Given the description of an element on the screen output the (x, y) to click on. 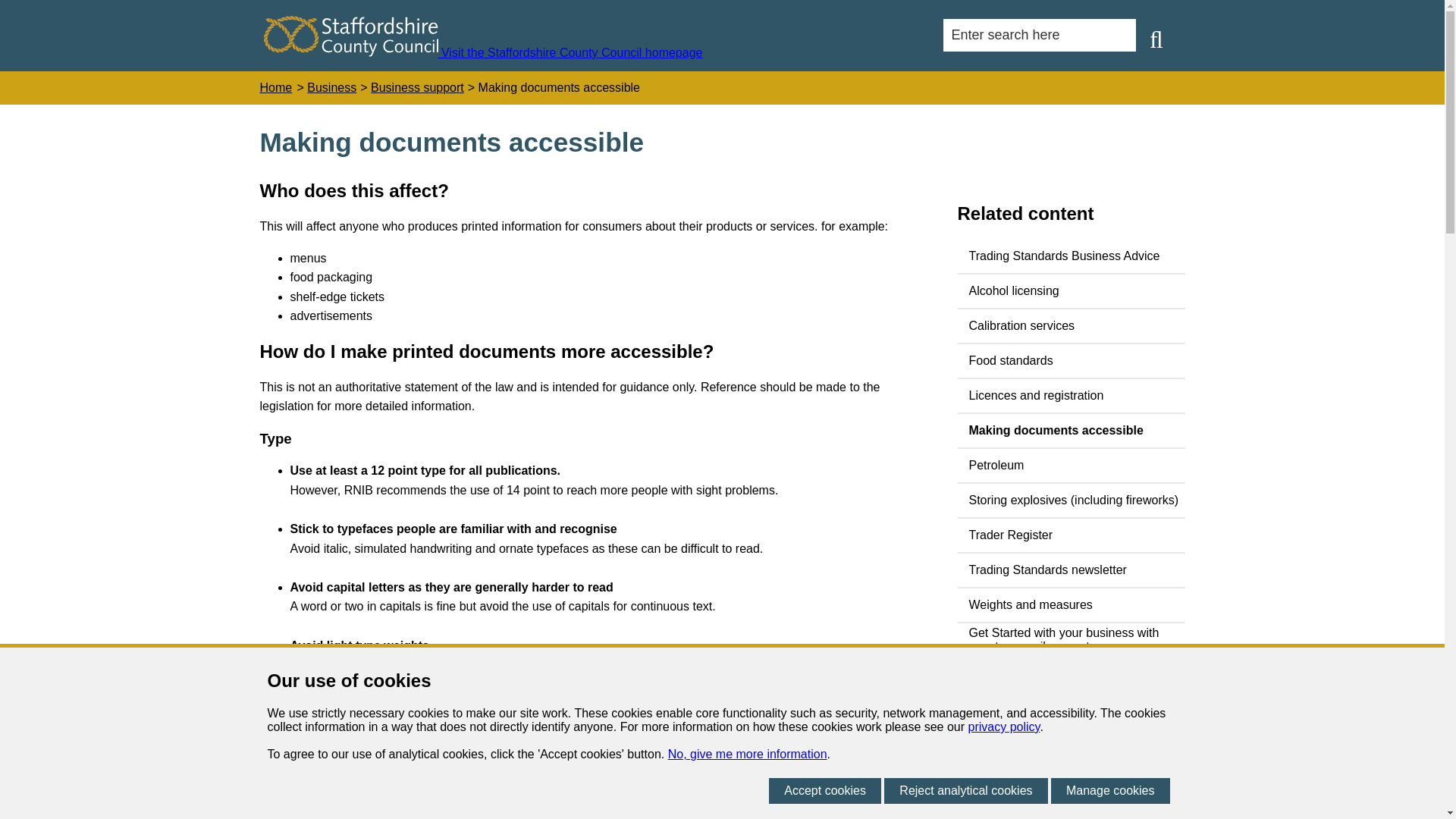
Business support (417, 87)
Staffordshire County Council (350, 35)
Accept cookies (824, 790)
Reject analytical cookies (964, 790)
Search (1155, 39)
Business (331, 87)
No, give me more information (747, 753)
Home (275, 87)
Enter search here (1039, 34)
Visit the Staffordshire County Council homepage (483, 51)
Enter search here (1039, 34)
Manage cookies (1110, 790)
privacy policy (1004, 726)
